Given the description of an element on the screen output the (x, y) to click on. 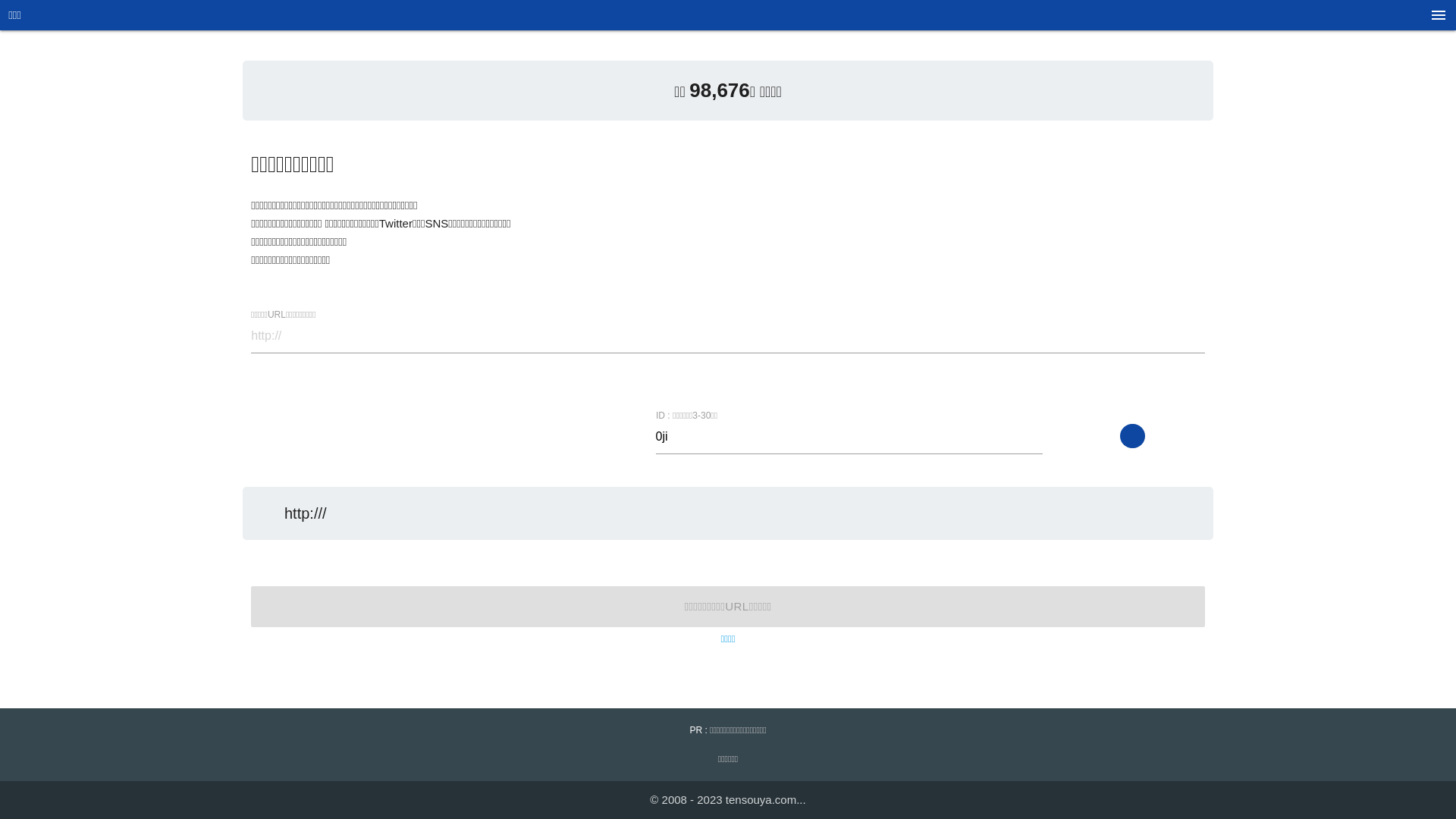
menu Element type: text (1438, 19)
